Given the description of an element on the screen output the (x, y) to click on. 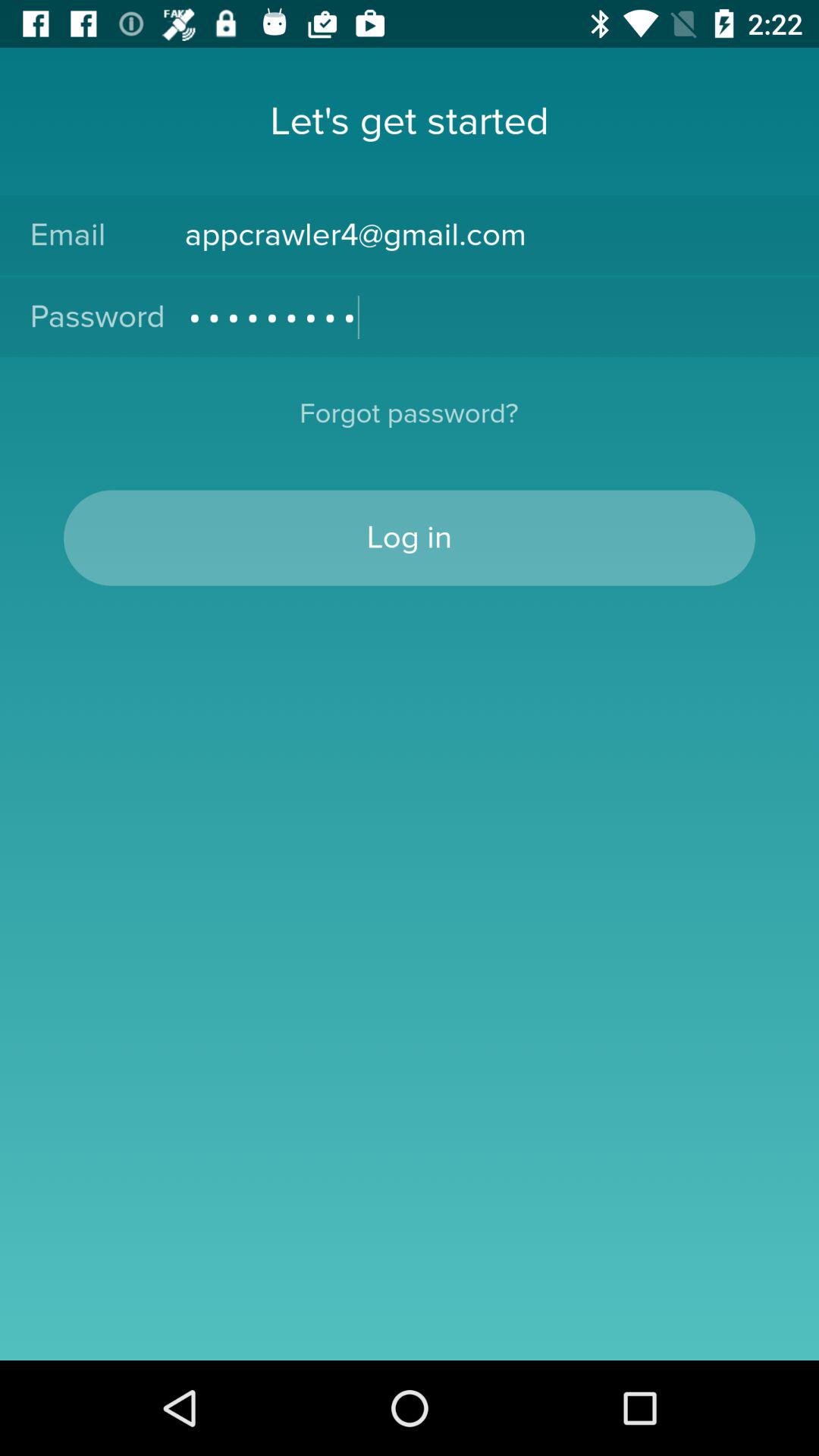
select icon below crowd3116 (408, 423)
